Given the description of an element on the screen output the (x, y) to click on. 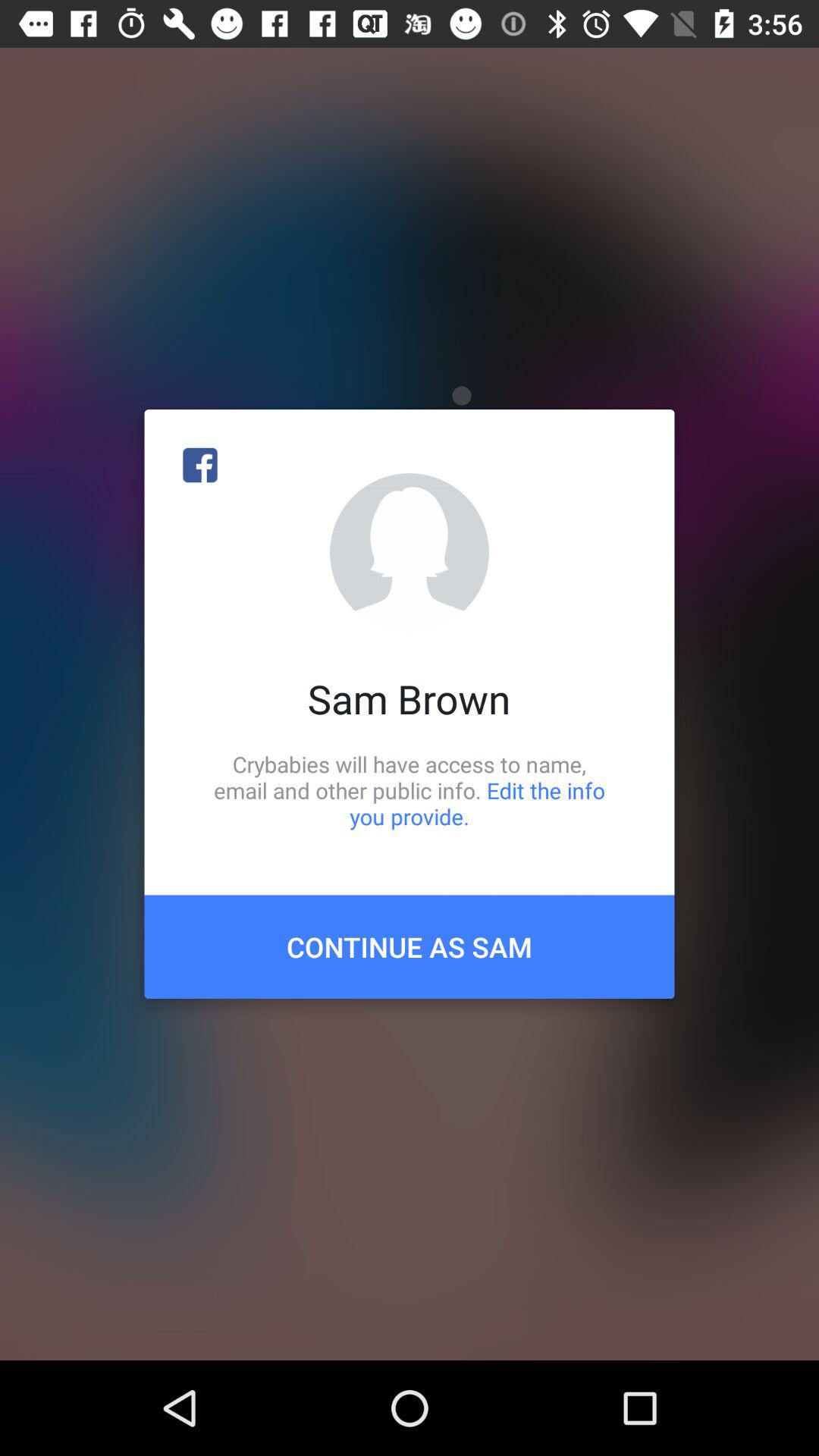
open item above continue as sam (409, 790)
